Given the description of an element on the screen output the (x, y) to click on. 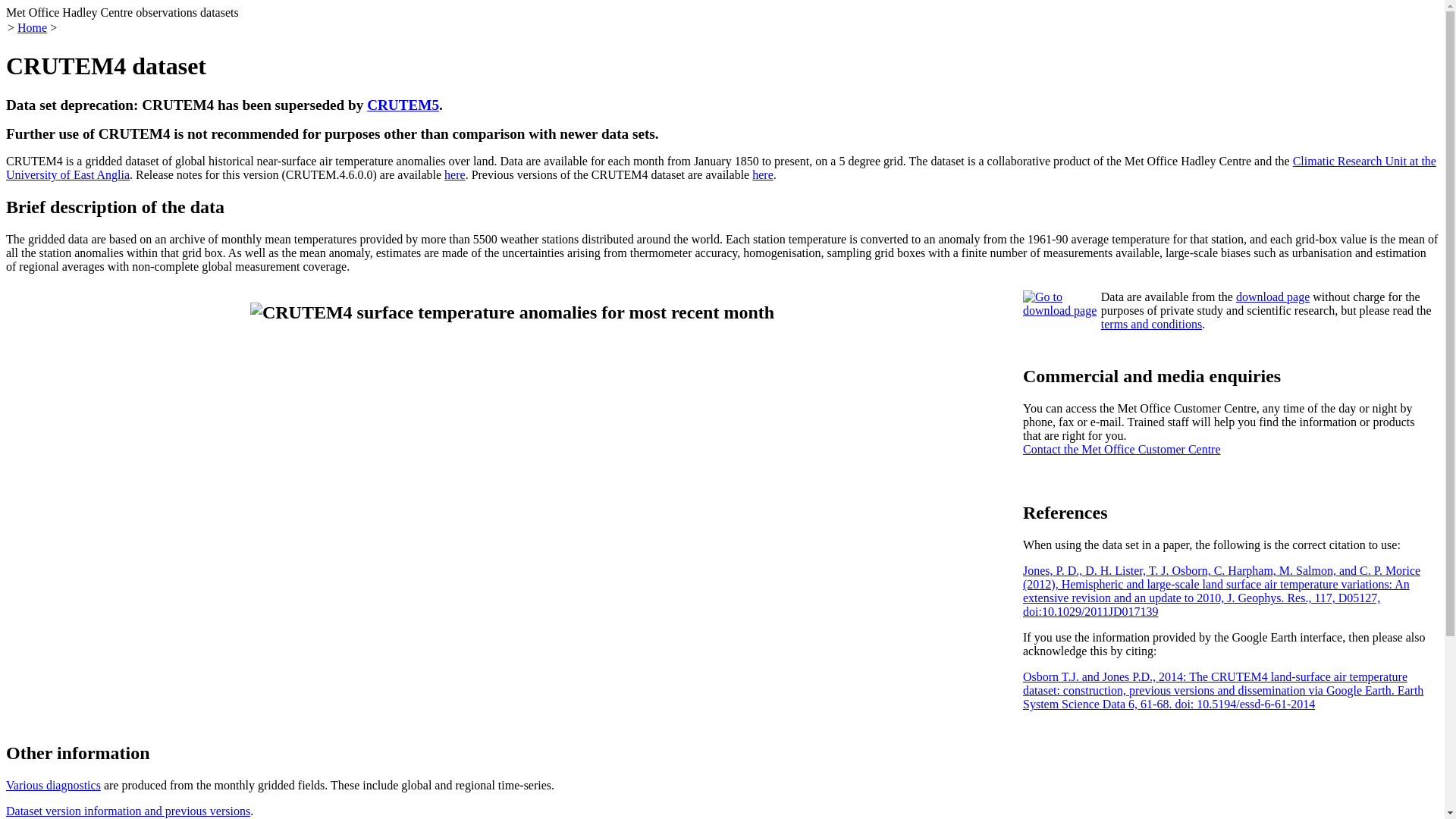
Dataset version information and previous versions (127, 810)
Contact the Met Office Customer Centre (1122, 449)
here (454, 174)
Home (31, 27)
Go to Research (1060, 303)
terms and conditions (1151, 323)
CRUTEM5 (402, 105)
download page (1272, 296)
here (762, 174)
Various diagnostics (52, 784)
